Given the description of an element on the screen output the (x, y) to click on. 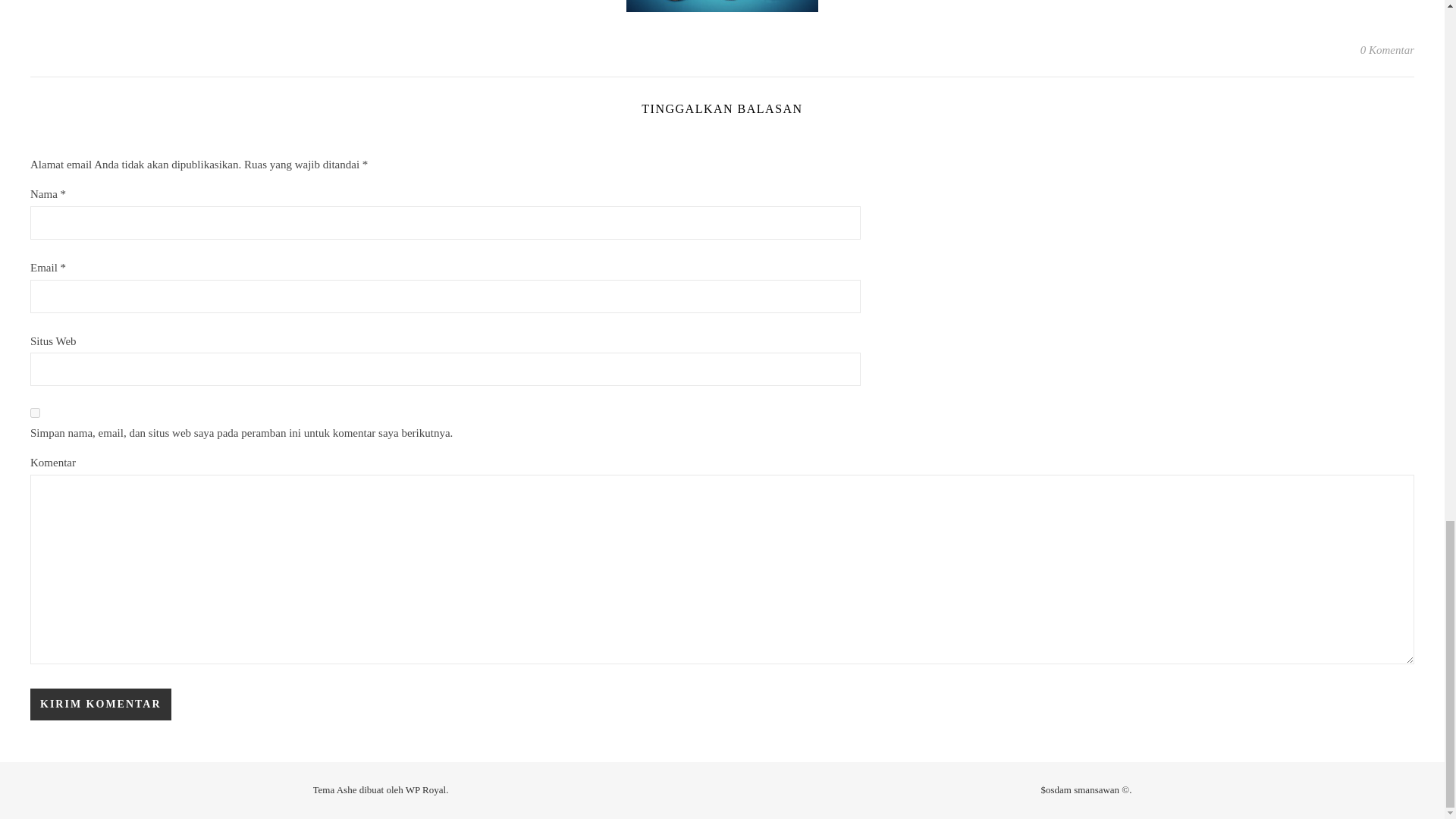
WP Royal (425, 789)
Kirim Komentar (100, 704)
Kirim Komentar (100, 704)
yes (35, 412)
0 Komentar (1386, 49)
